Given the description of an element on the screen output the (x, y) to click on. 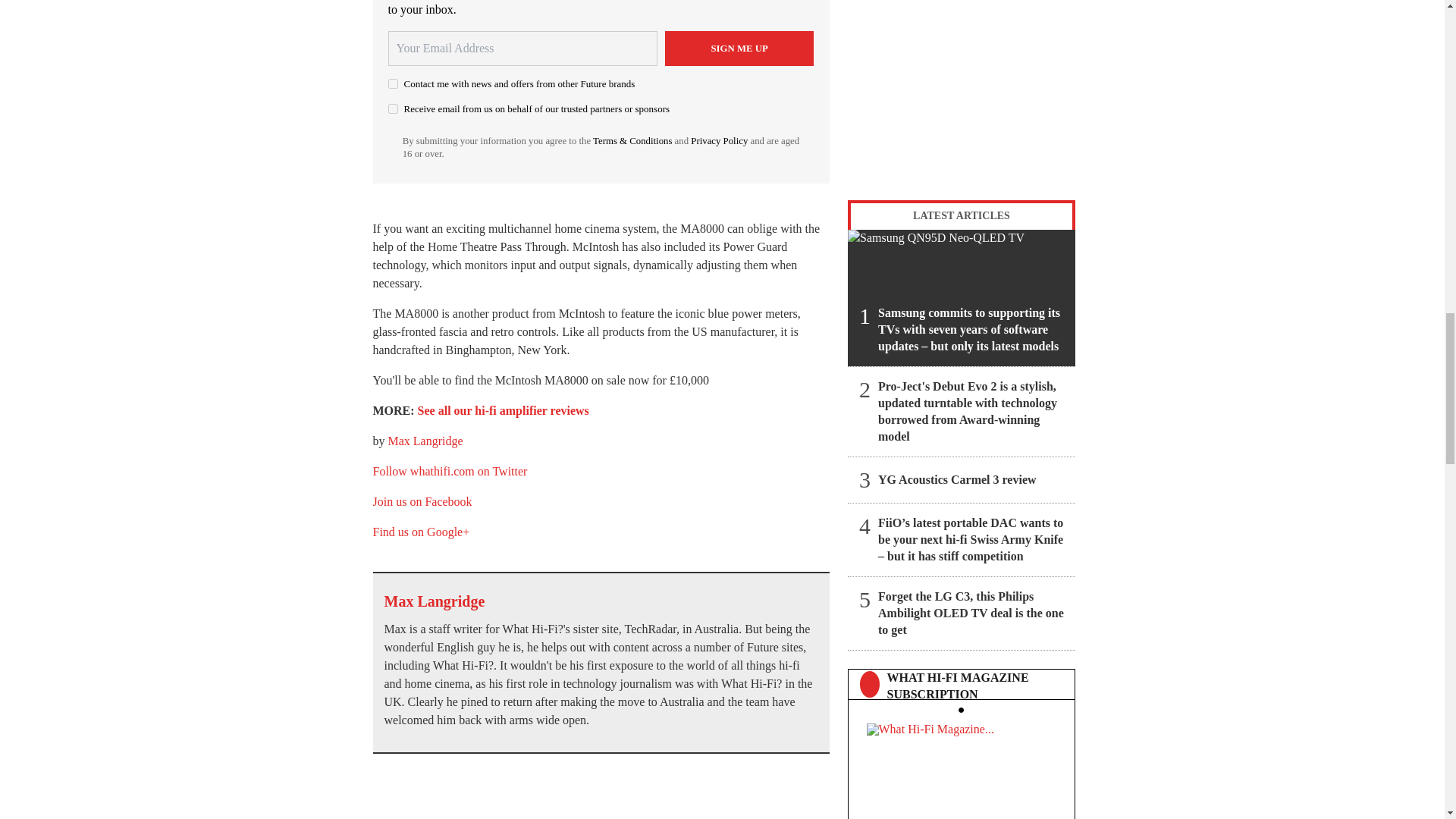
on (392, 108)
What Hi-Fi Magazine... (960, 766)
on (392, 83)
Sign me up (739, 48)
